Given the description of an element on the screen output the (x, y) to click on. 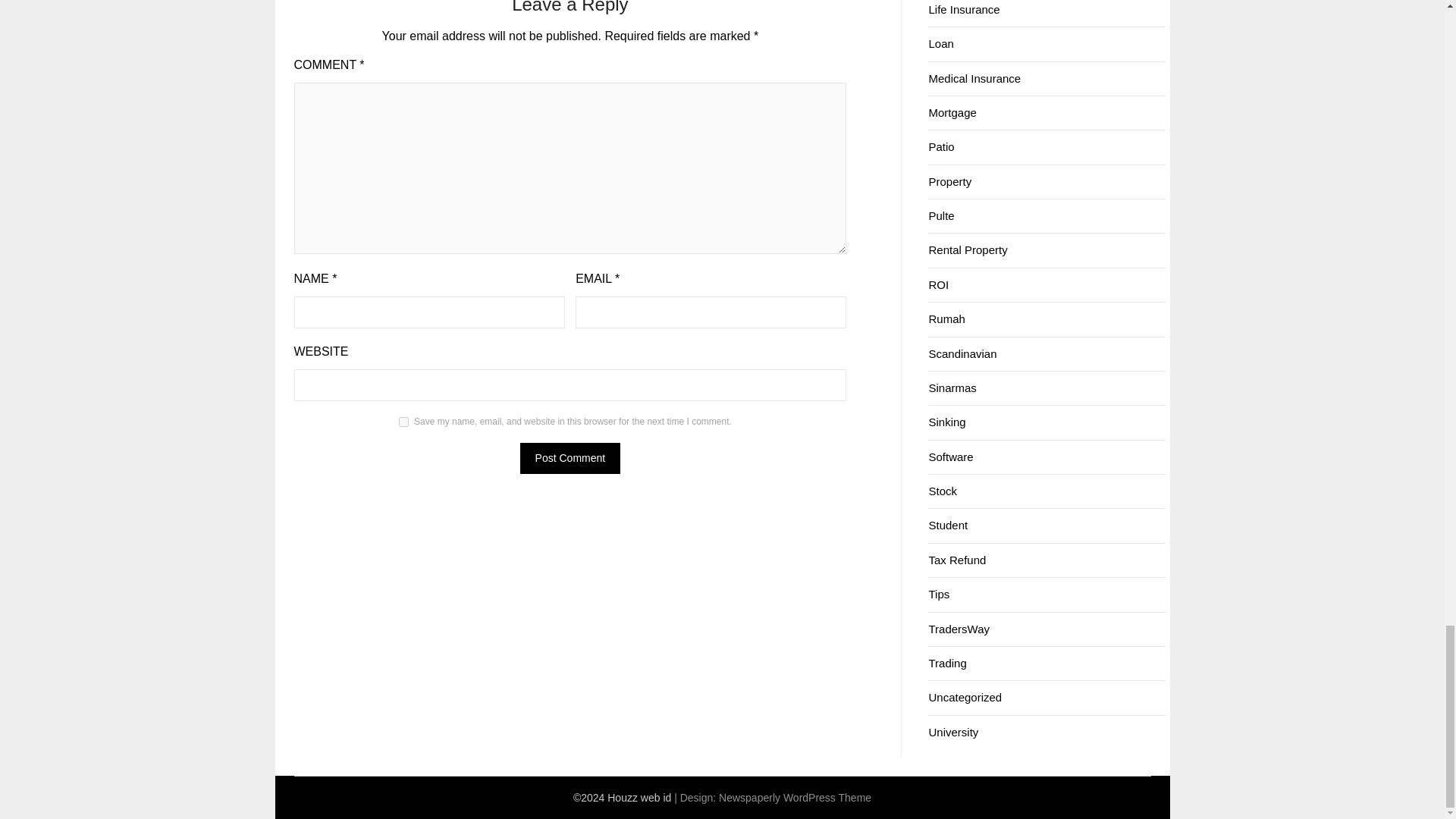
yes (403, 421)
Post Comment (570, 458)
Post Comment (570, 458)
